Given the description of an element on the screen output the (x, y) to click on. 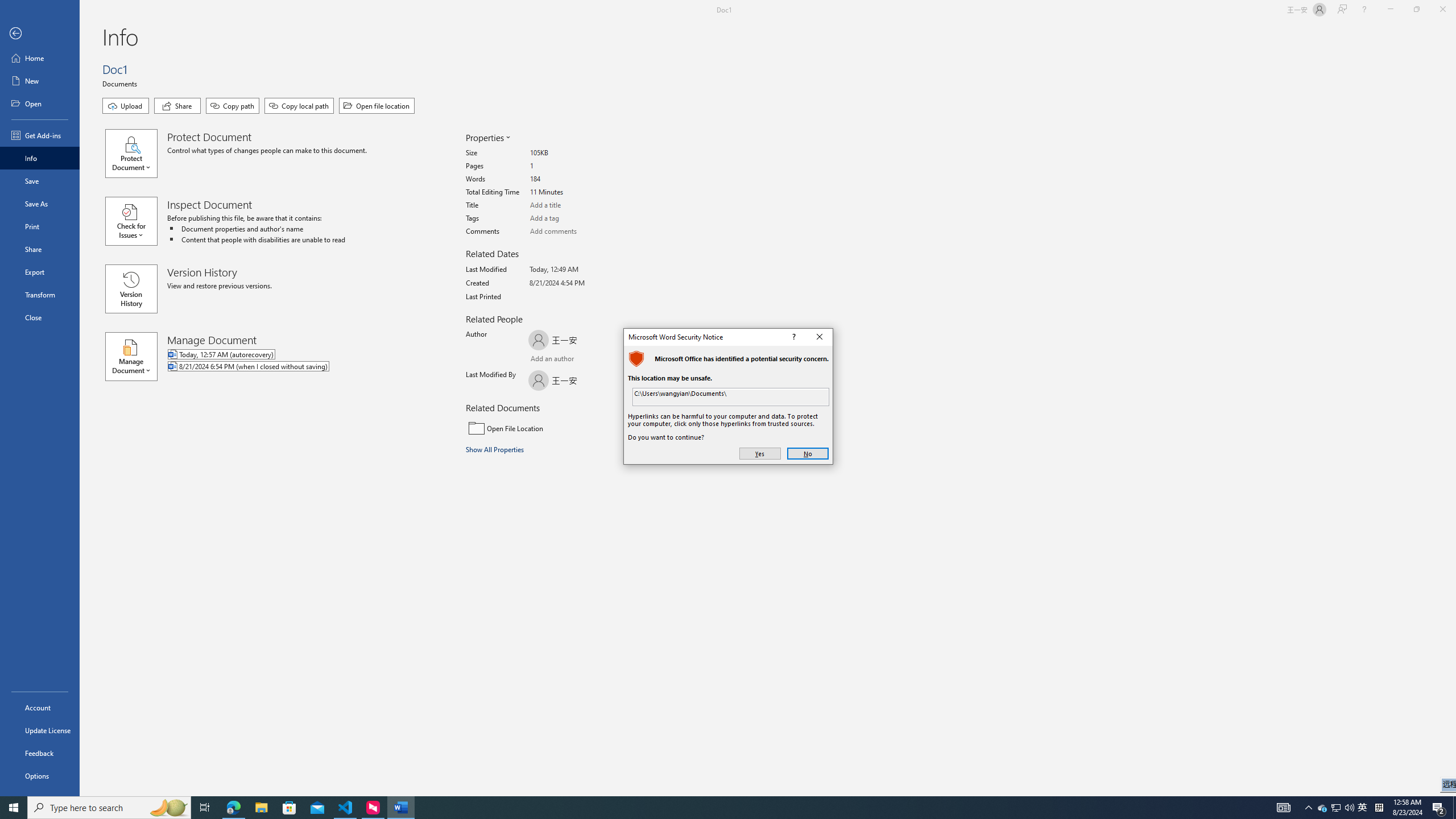
Export (40, 271)
Print (40, 225)
New (40, 80)
Version History (130, 288)
Add an author (540, 359)
Get Add-ins (40, 134)
Open file location (376, 105)
